Given the description of an element on the screen output the (x, y) to click on. 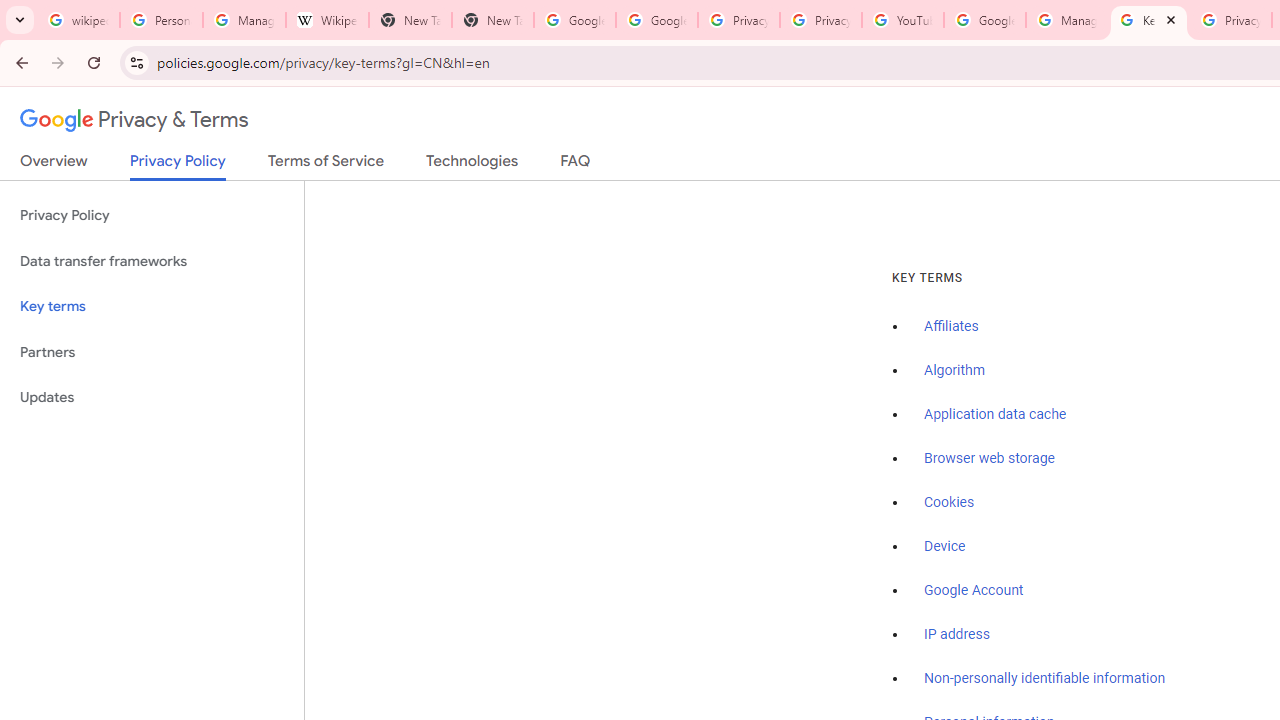
Affiliates (951, 327)
Manage your Location History - Google Search Help (244, 20)
FAQ (575, 165)
Wikipedia:Edit requests - Wikipedia (326, 20)
New Tab (492, 20)
Updates (152, 398)
New Tab (409, 20)
Privacy & Terms (134, 120)
